Given the description of an element on the screen output the (x, y) to click on. 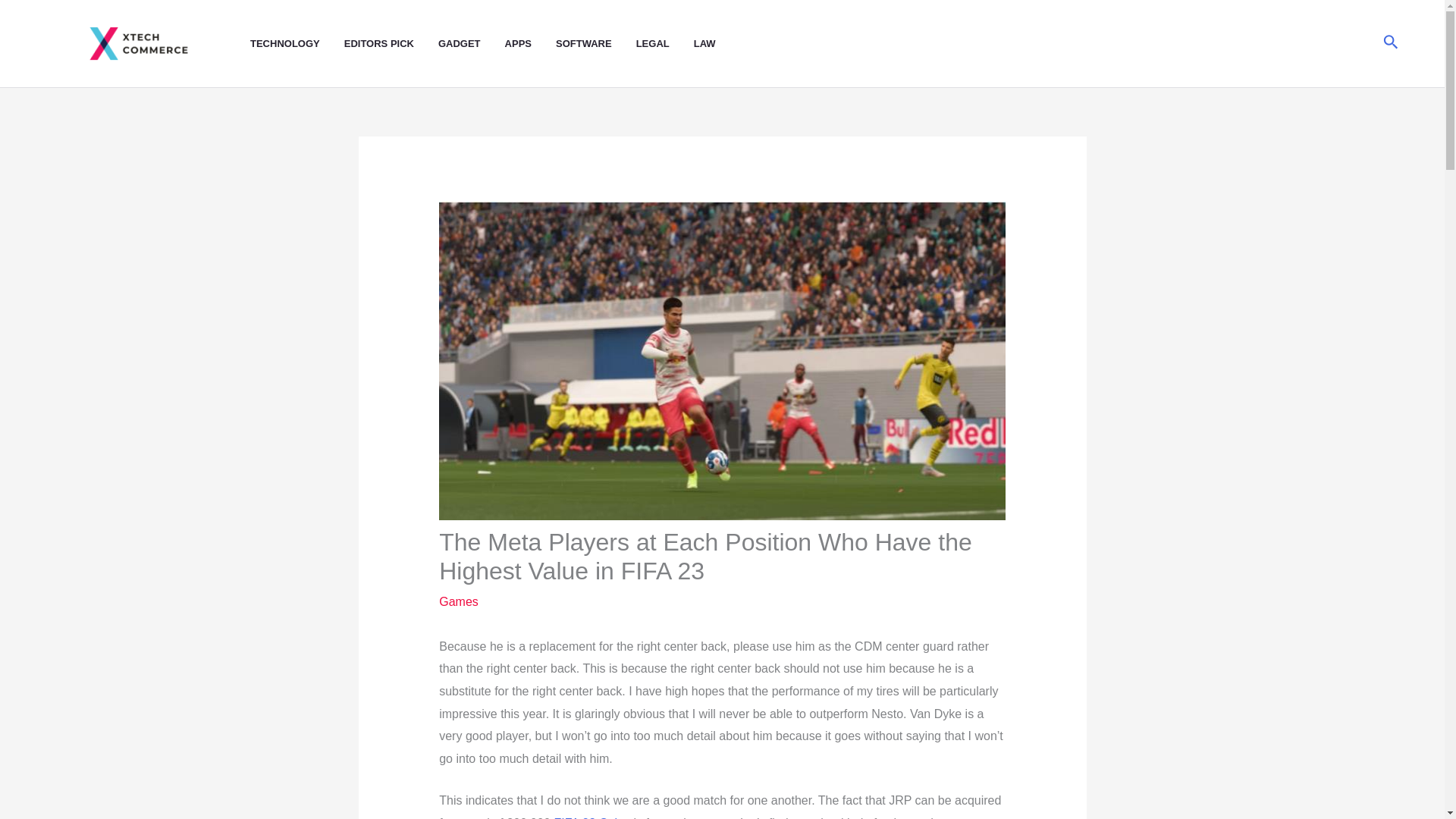
EDITORS PICK (390, 43)
Games (459, 601)
FIFA 23 Coins (591, 817)
SOFTWARE (596, 43)
TECHNOLOGY (296, 43)
